Given the description of an element on the screen output the (x, y) to click on. 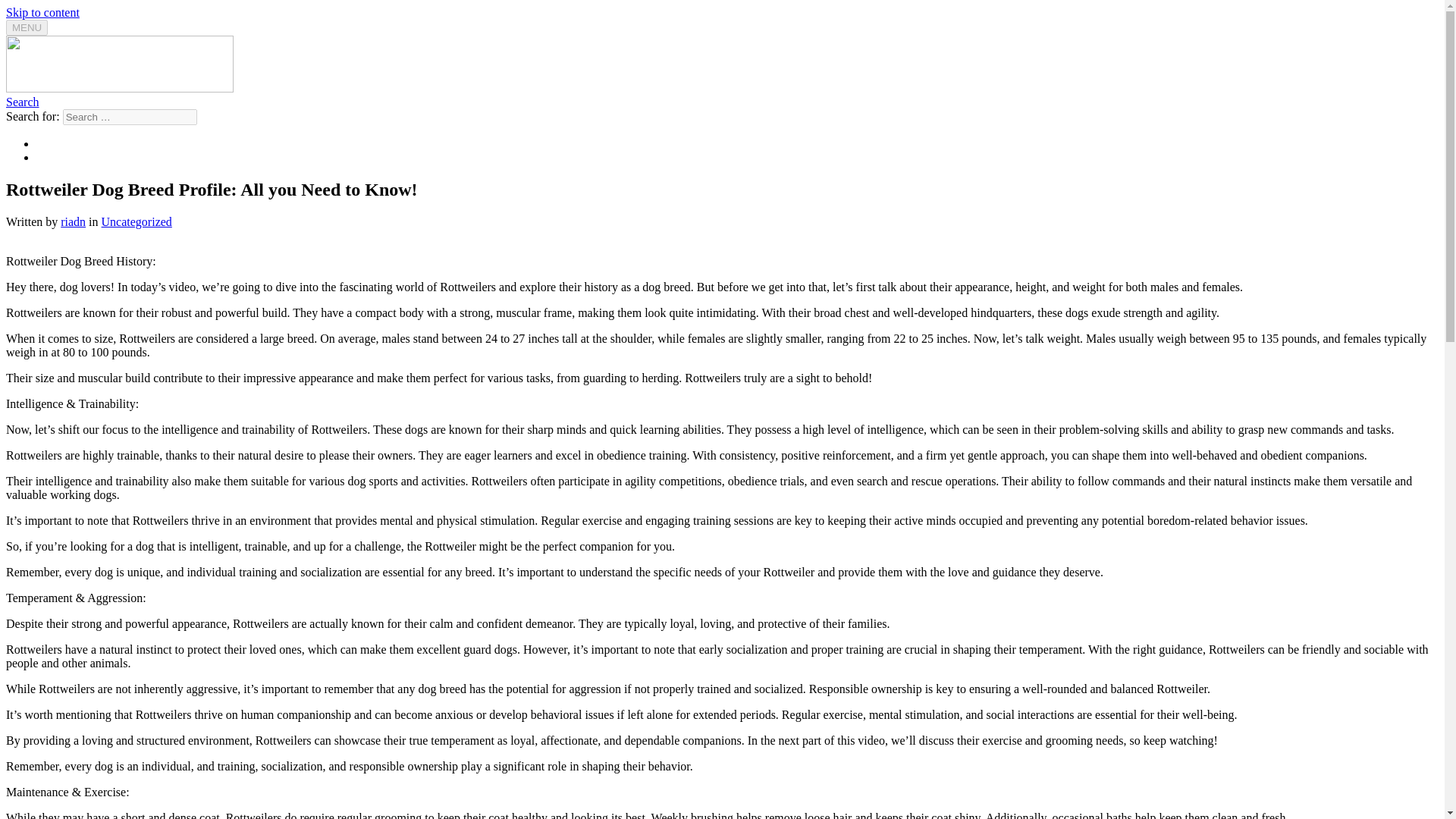
Uncategorized (136, 221)
Search (22, 101)
Skip to content (42, 11)
MENU (26, 27)
riadn (73, 221)
